Given the description of an element on the screen output the (x, y) to click on. 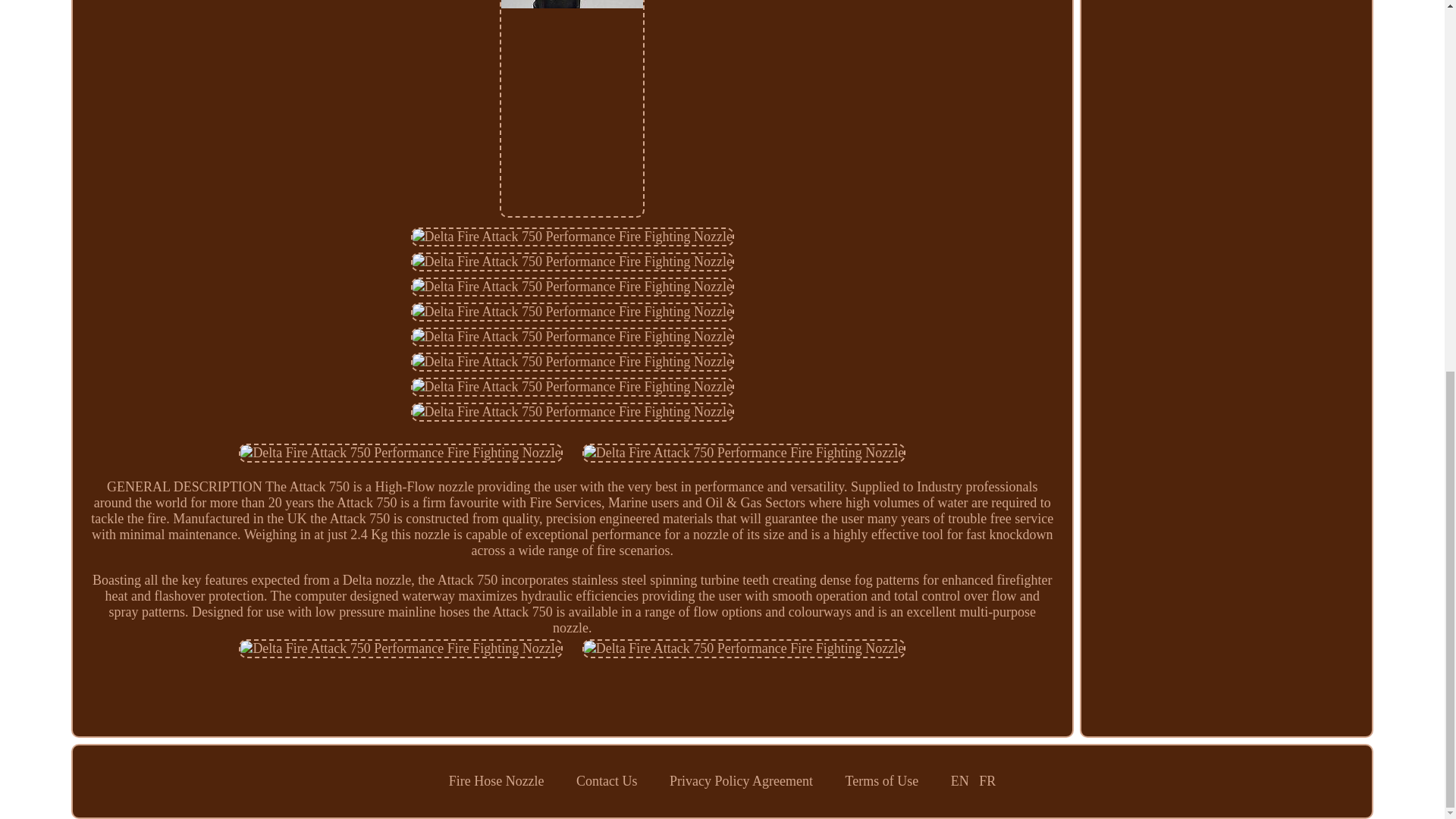
Delta Fire Attack 750 Performance Fire Fighting Nozzle (571, 386)
Delta Fire Attack 750 Performance Fire Fighting Nozzle (571, 286)
Delta Fire Attack 750 Performance Fire Fighting Nozzle (743, 452)
Delta Fire Attack 750 Performance Fire Fighting Nozzle (400, 648)
Delta Fire Attack 750 Performance Fire Fighting Nozzle (571, 261)
Delta Fire Attack 750 Performance Fire Fighting Nozzle (743, 648)
Delta Fire Attack 750 Performance Fire Fighting Nozzle (400, 452)
Delta Fire Attack 750 Performance Fire Fighting Nozzle (571, 236)
Delta Fire Attack 750 Performance Fire Fighting Nozzle (571, 311)
Delta Fire Attack 750 Performance Fire Fighting Nozzle (571, 336)
